Given the description of an element on the screen output the (x, y) to click on. 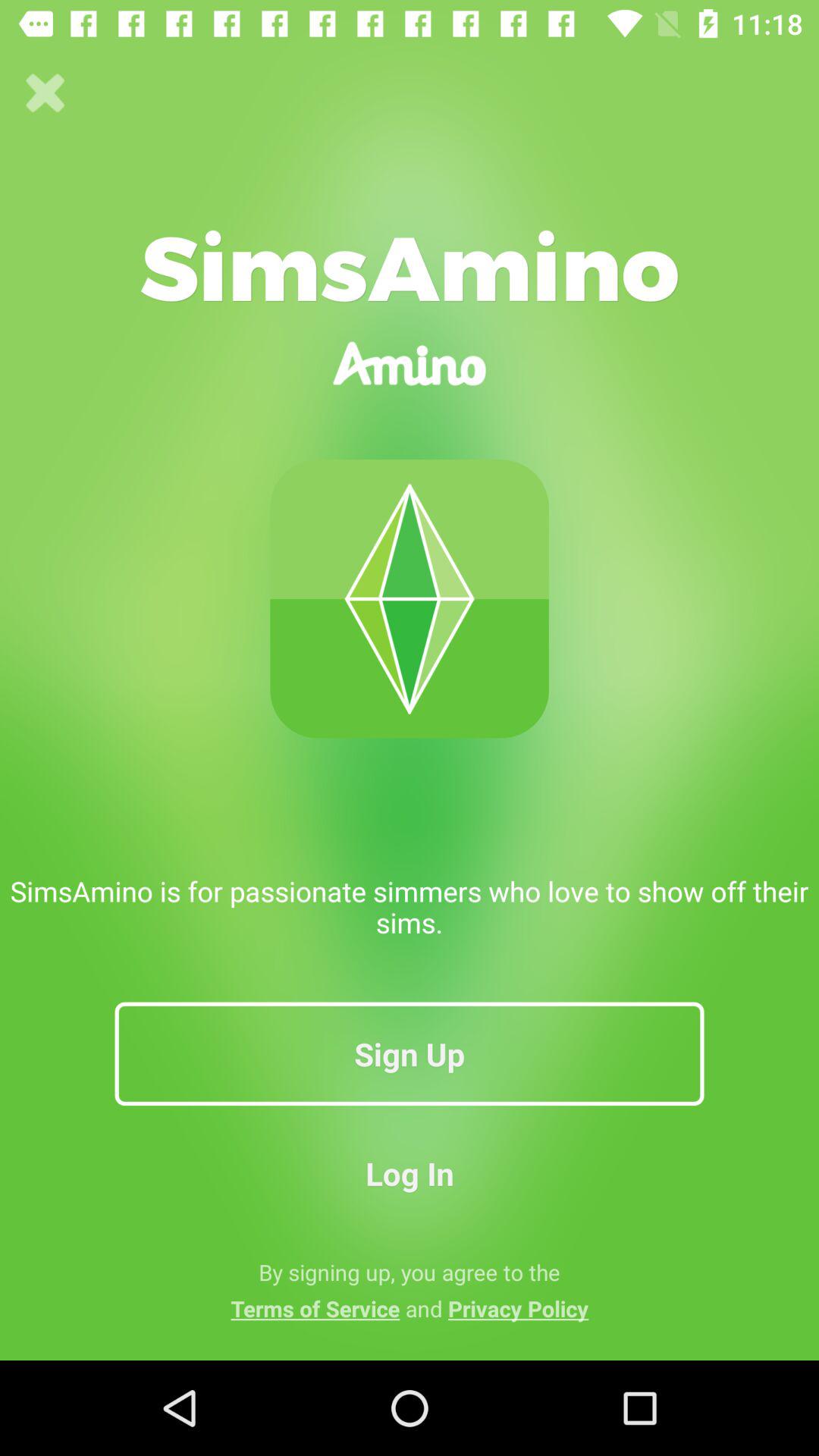
press icon at the top left corner (45, 93)
